Given the description of an element on the screen output the (x, y) to click on. 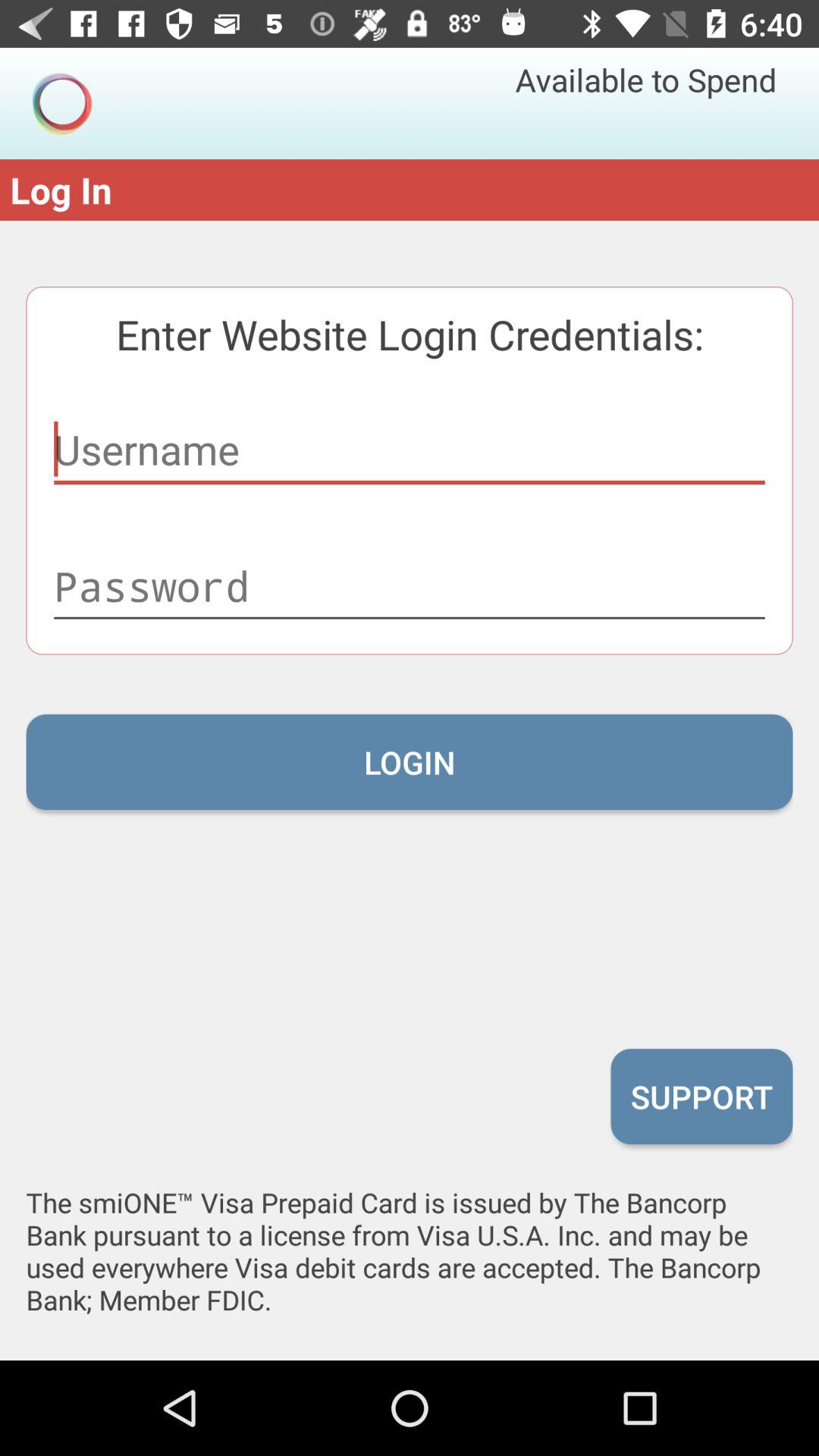
enter username (409, 449)
